Given the description of an element on the screen output the (x, y) to click on. 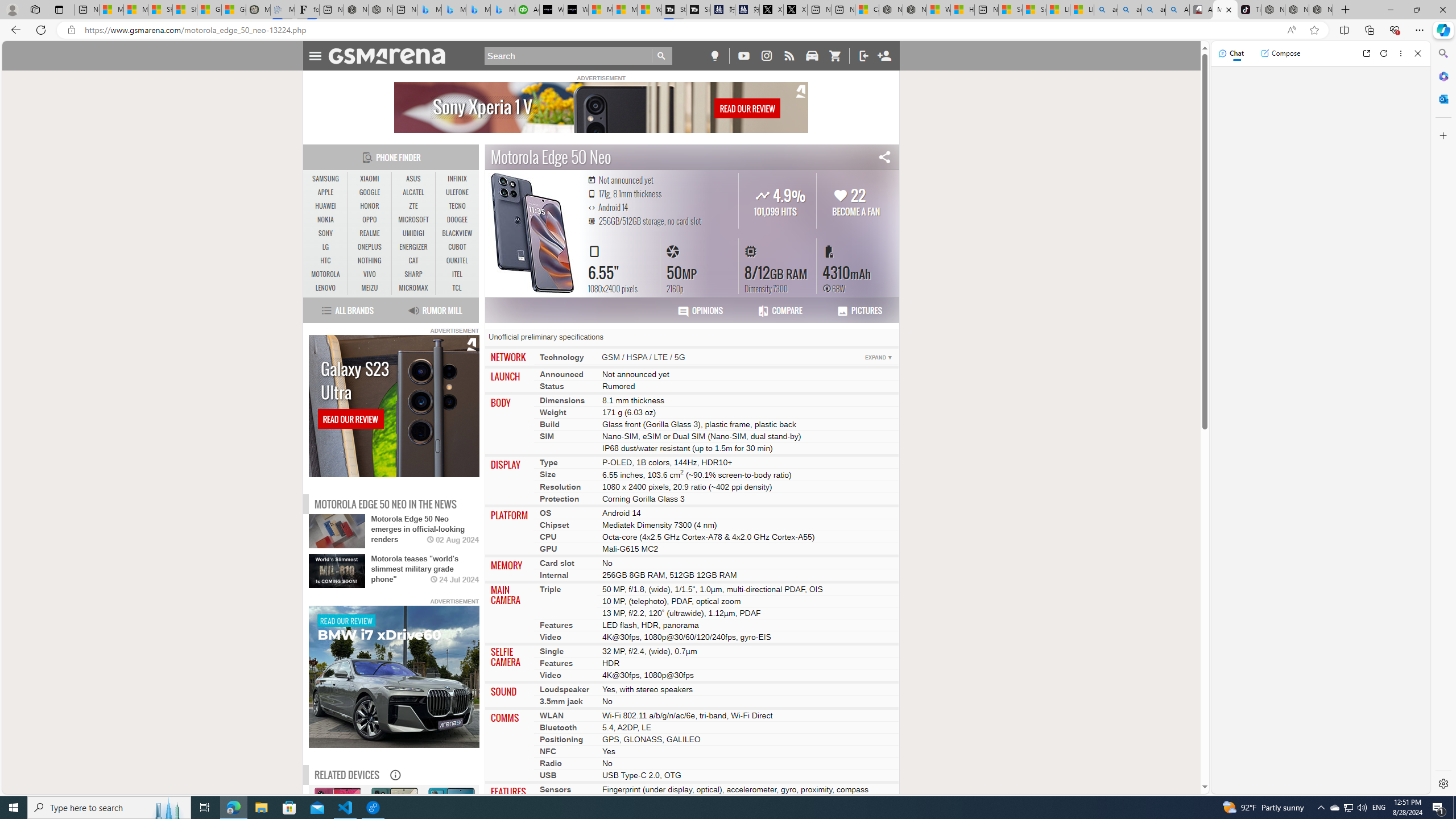
Go (662, 55)
ZTE (413, 206)
HTC (325, 260)
TikTok (1248, 9)
Microsoft Start Sports (600, 9)
Nordace - Best Sellers (1273, 9)
NOKIA (325, 219)
SHARP (413, 273)
Technology (561, 356)
